Given the description of an element on the screen output the (x, y) to click on. 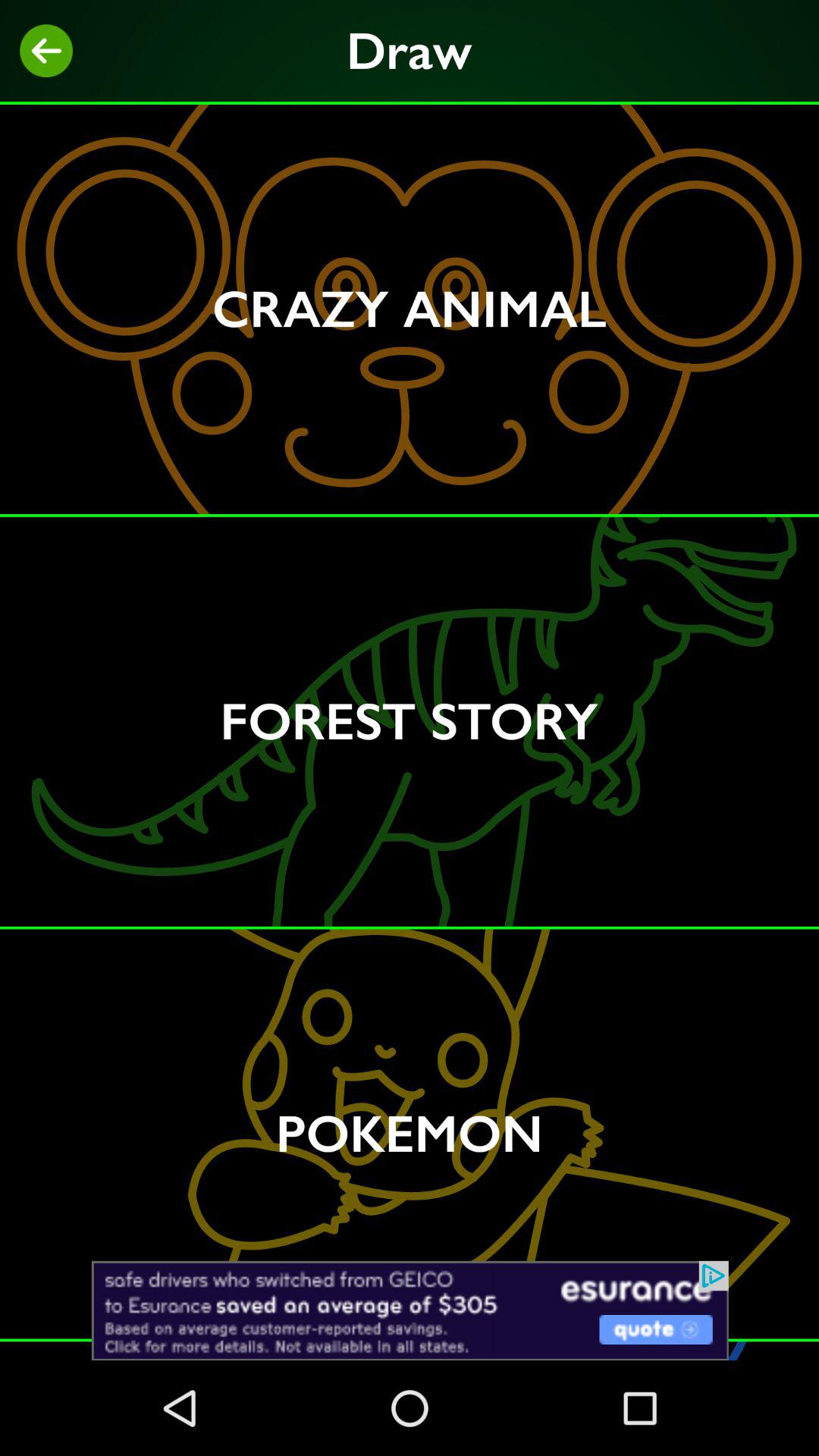
advertisement in the bottom (409, 1310)
